Given the description of an element on the screen output the (x, y) to click on. 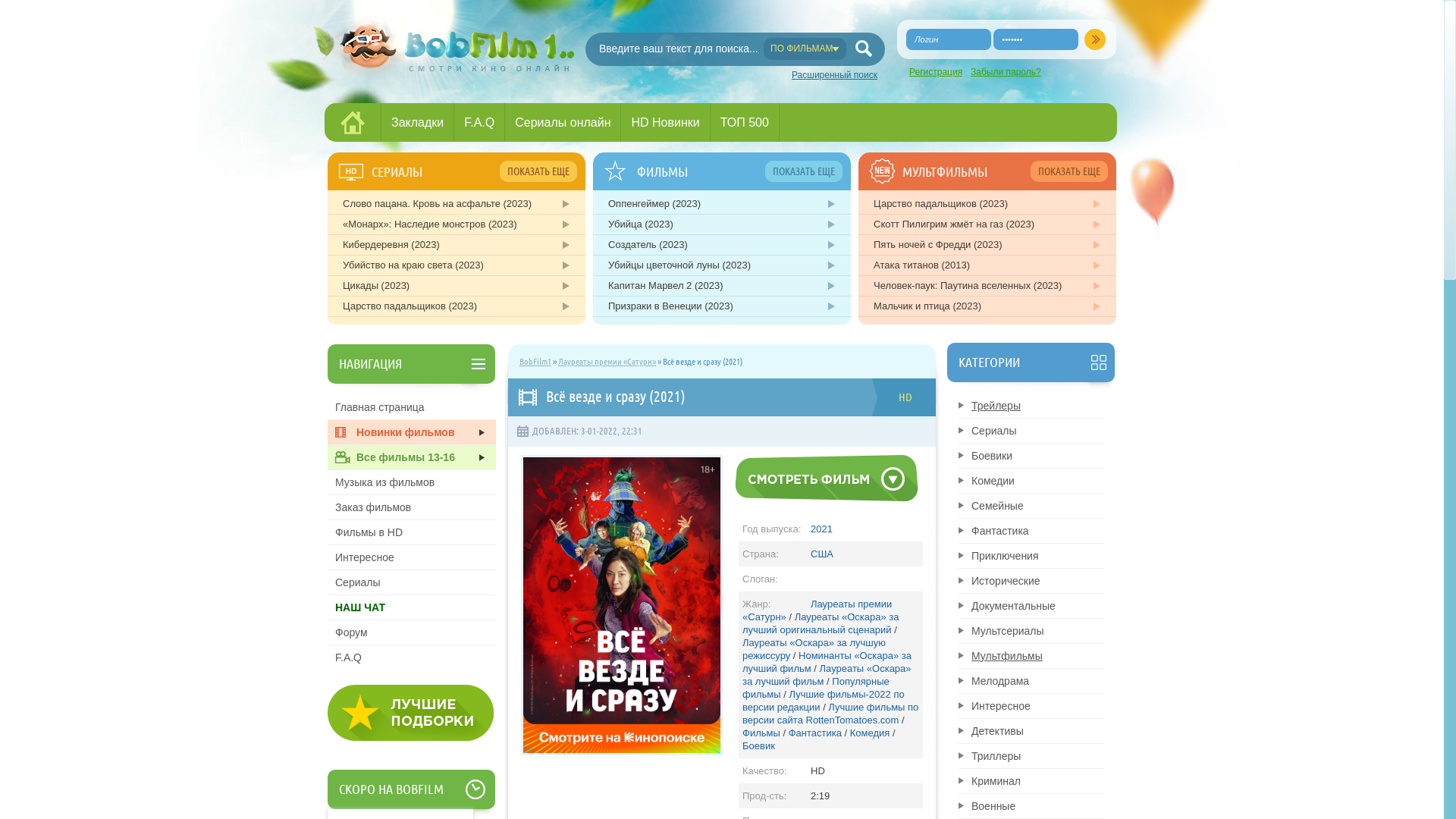
F.A.Q Element type: text (411, 657)
2021 Element type: text (821, 528)
F.A.Q Element type: text (479, 122)
BobFilm1 Element type: text (535, 361)
